Given the description of an element on the screen output the (x, y) to click on. 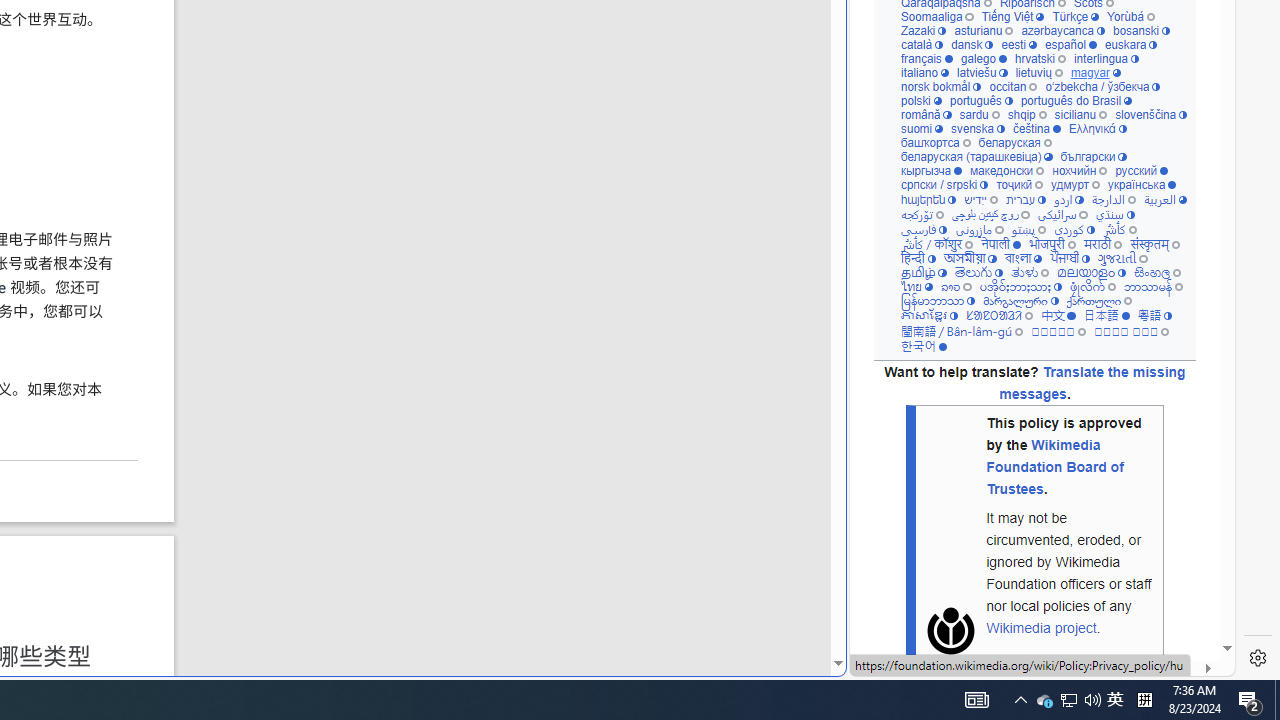
sardu (978, 115)
occitan (1013, 87)
